Given the description of an element on the screen output the (x, y) to click on. 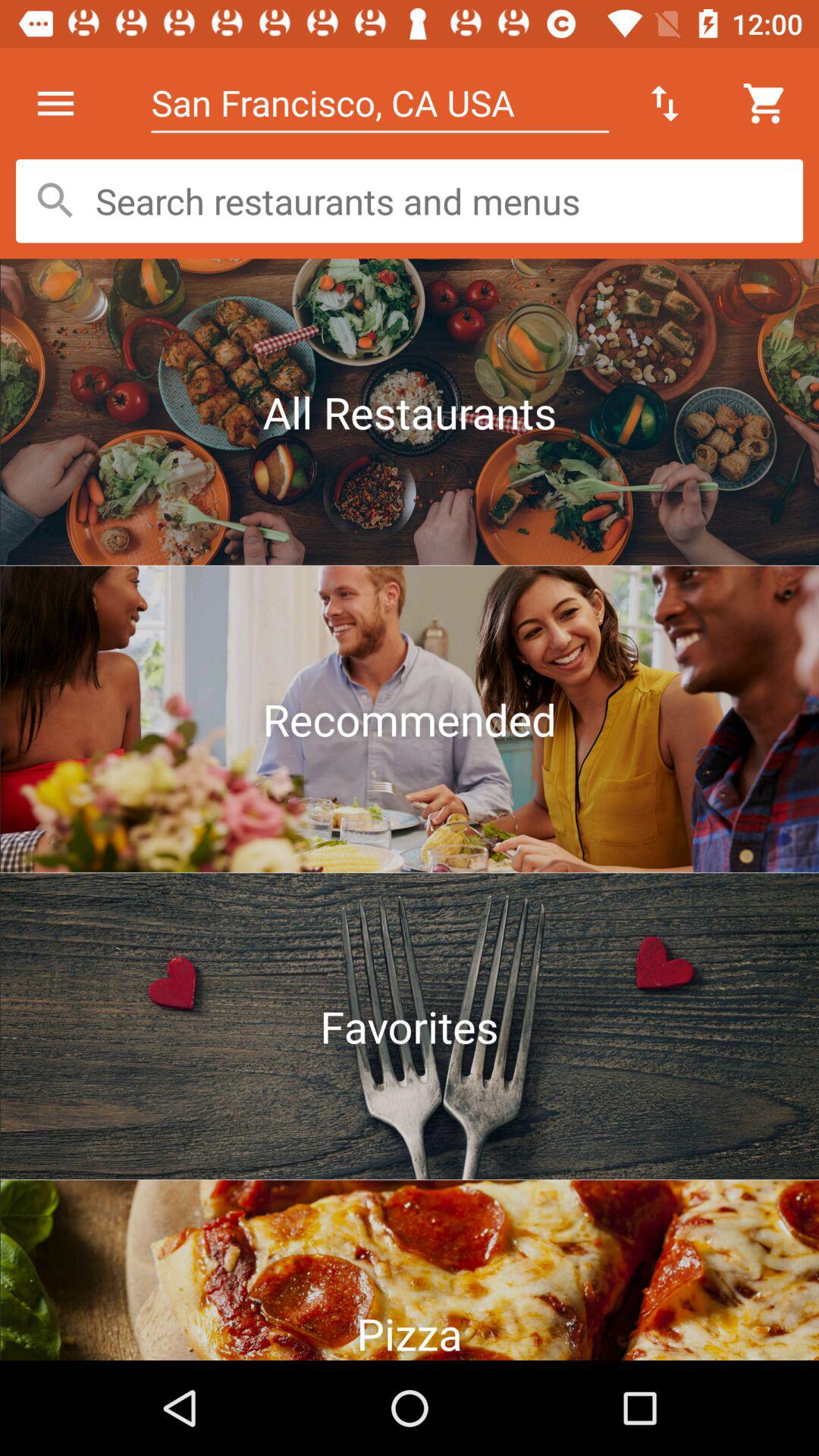
turn off the san francisco ca item (380, 103)
